Given the description of an element on the screen output the (x, y) to click on. 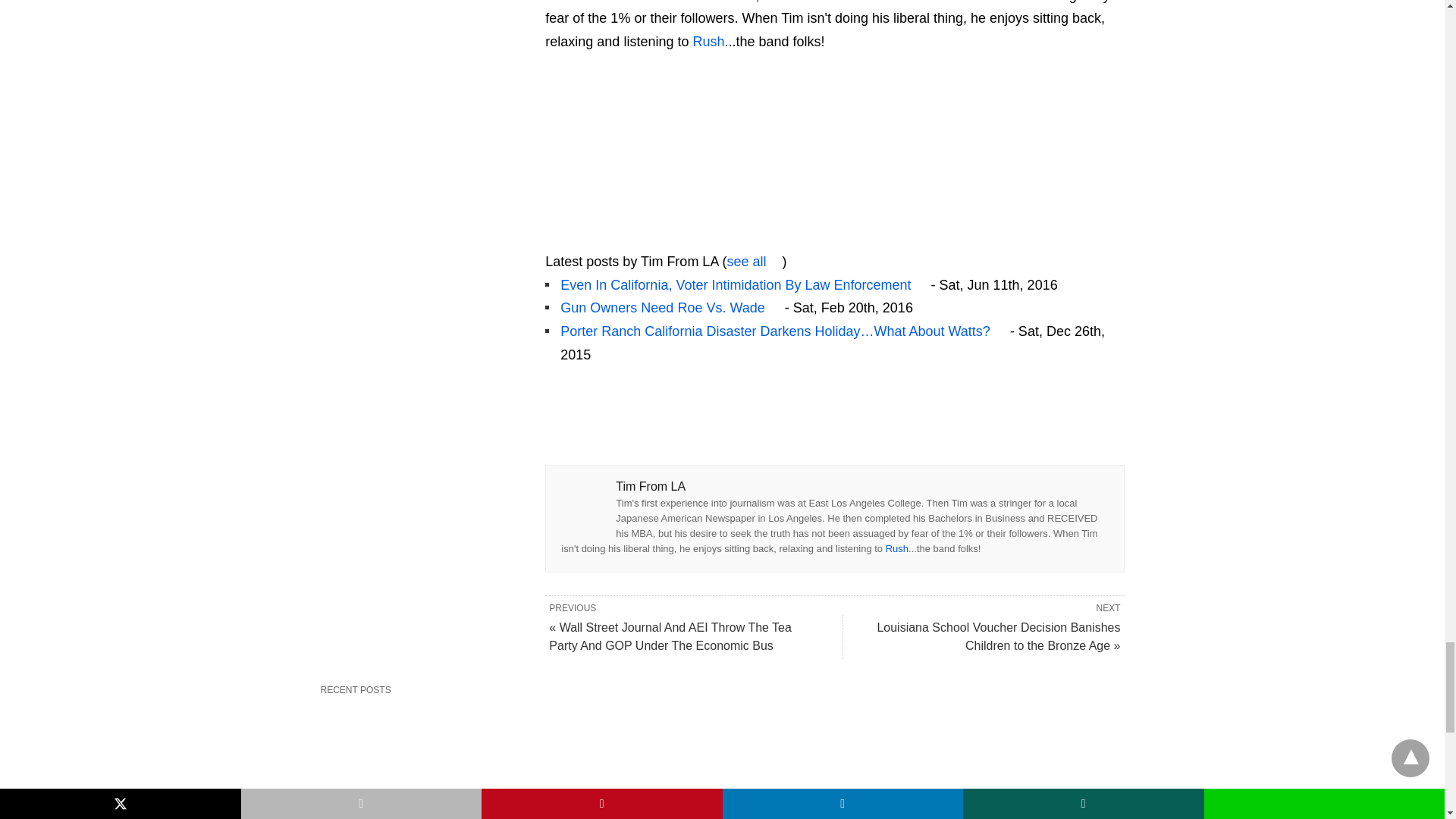
Gun Owners Need Roe Vs. Wade (670, 307)
Even In California, Voter Intimidation By Law Enforcement (743, 284)
Tim From LA (639, 238)
see all (753, 261)
Rush (896, 548)
Rush (708, 41)
